Given the description of an element on the screen output the (x, y) to click on. 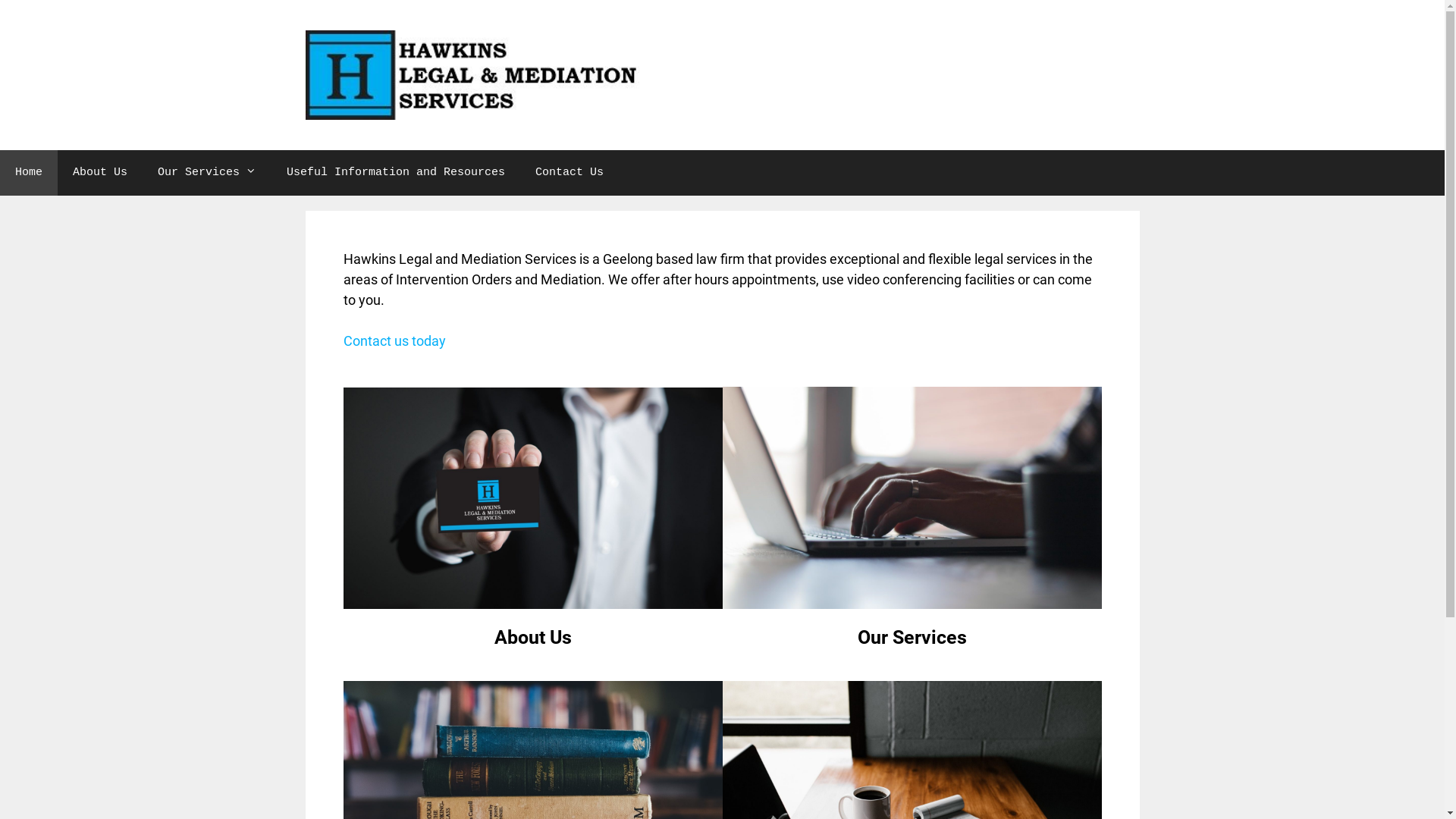
Hawkins Legal & Mediation Services Element type: hover (475, 75)
Home Element type: text (28, 172)
Our Services Element type: text (911, 637)
Our Services Element type: text (206, 172)
About Us Element type: text (99, 172)
Useful Information and Resources Element type: text (395, 172)
About Us Element type: text (532, 637)
Contact us today Element type: text (393, 340)
Hawkins Legal & Mediation Services Element type: hover (475, 74)
Contact Us Element type: text (569, 172)
